Given the description of an element on the screen output the (x, y) to click on. 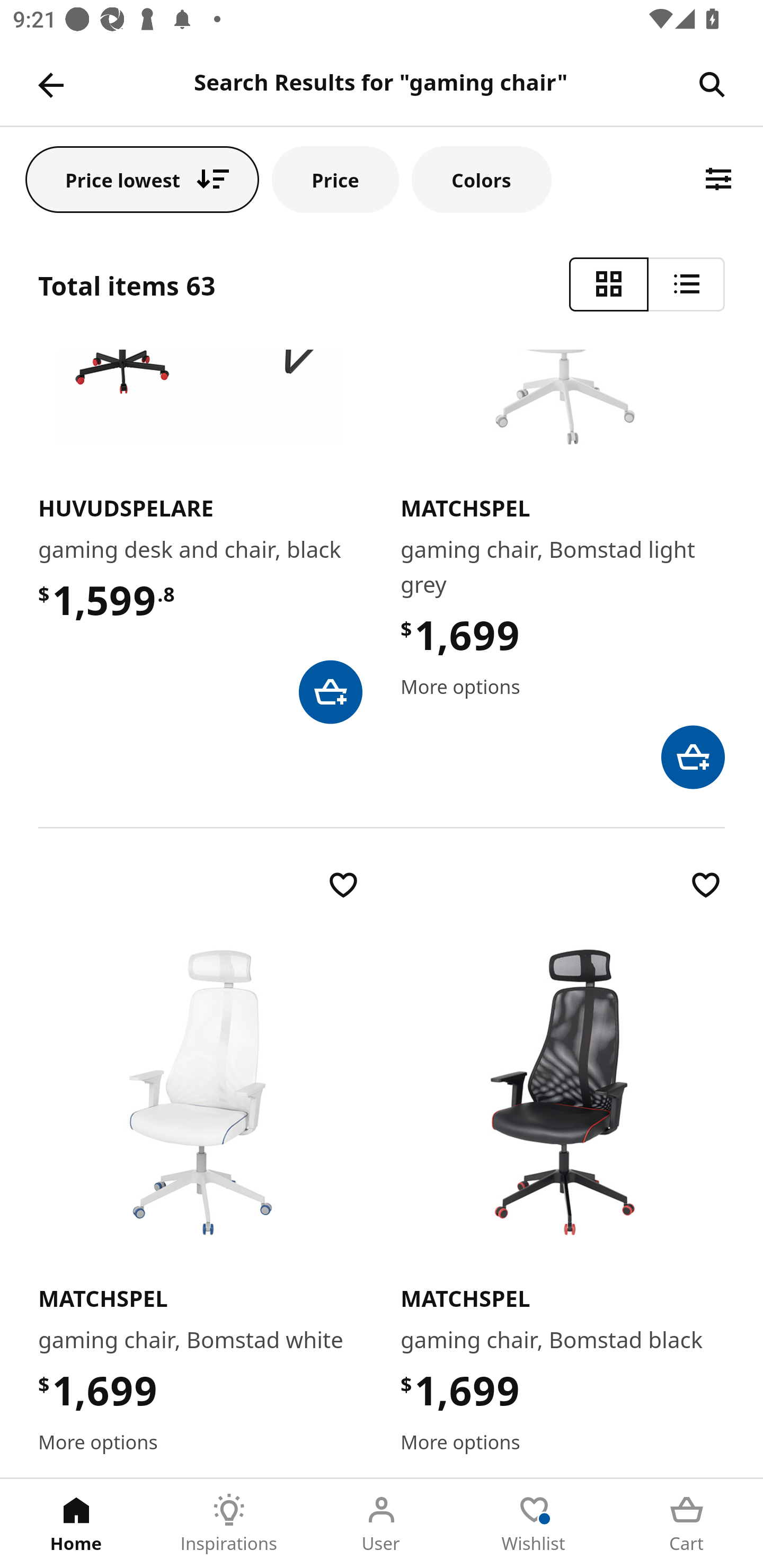
Price lowest (142, 179)
Price (335, 179)
Colors (481, 179)
Home
Tab 1 of 5 (76, 1522)
Inspirations
Tab 2 of 5 (228, 1522)
User
Tab 3 of 5 (381, 1522)
Wishlist
Tab 4 of 5 (533, 1522)
Cart
Tab 5 of 5 (686, 1522)
